Given the description of an element on the screen output the (x, y) to click on. 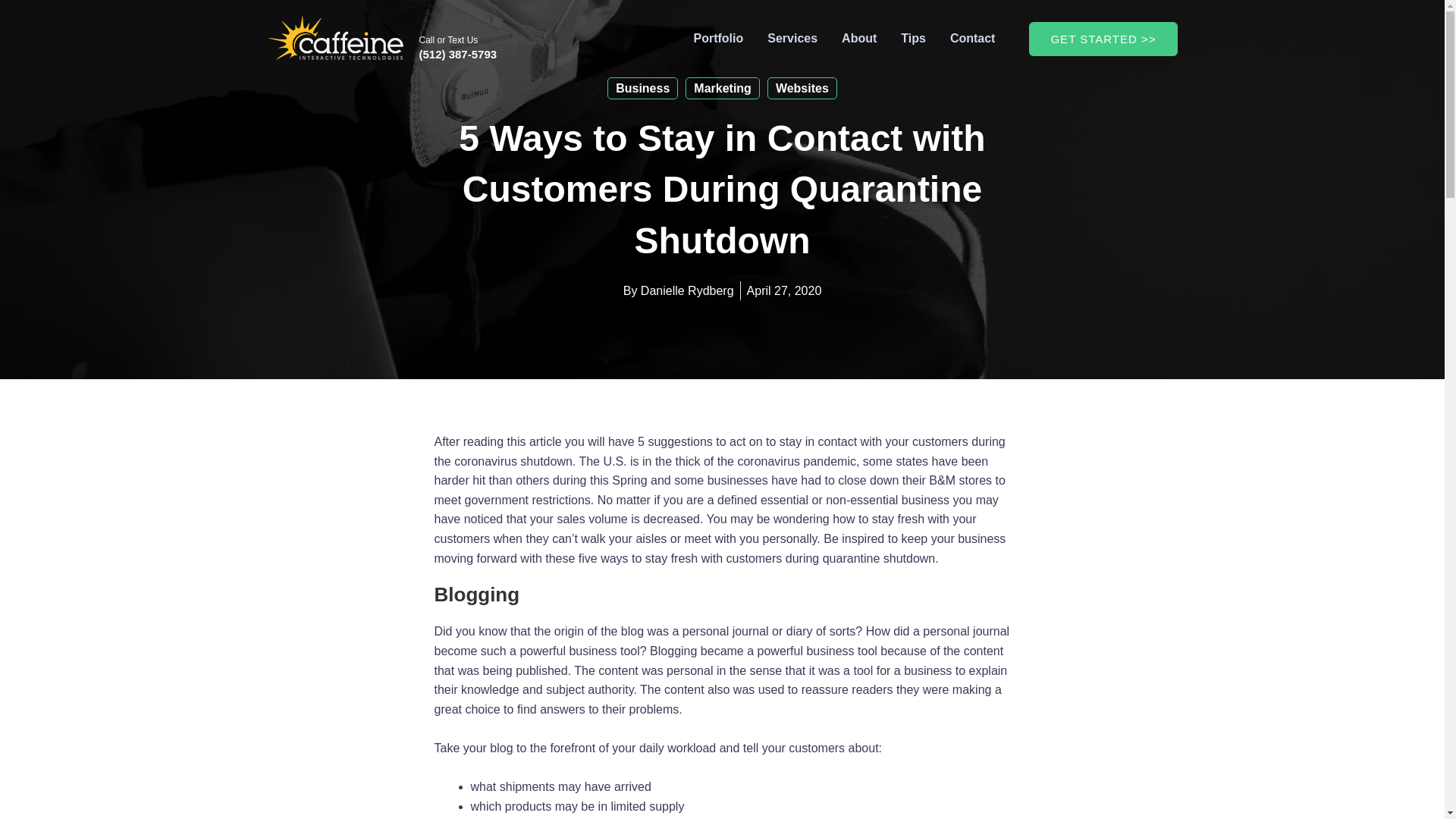
Contact (972, 38)
Portfolio (717, 38)
Tips (913, 38)
Services (791, 38)
About (858, 38)
